Given the description of an element on the screen output the (x, y) to click on. 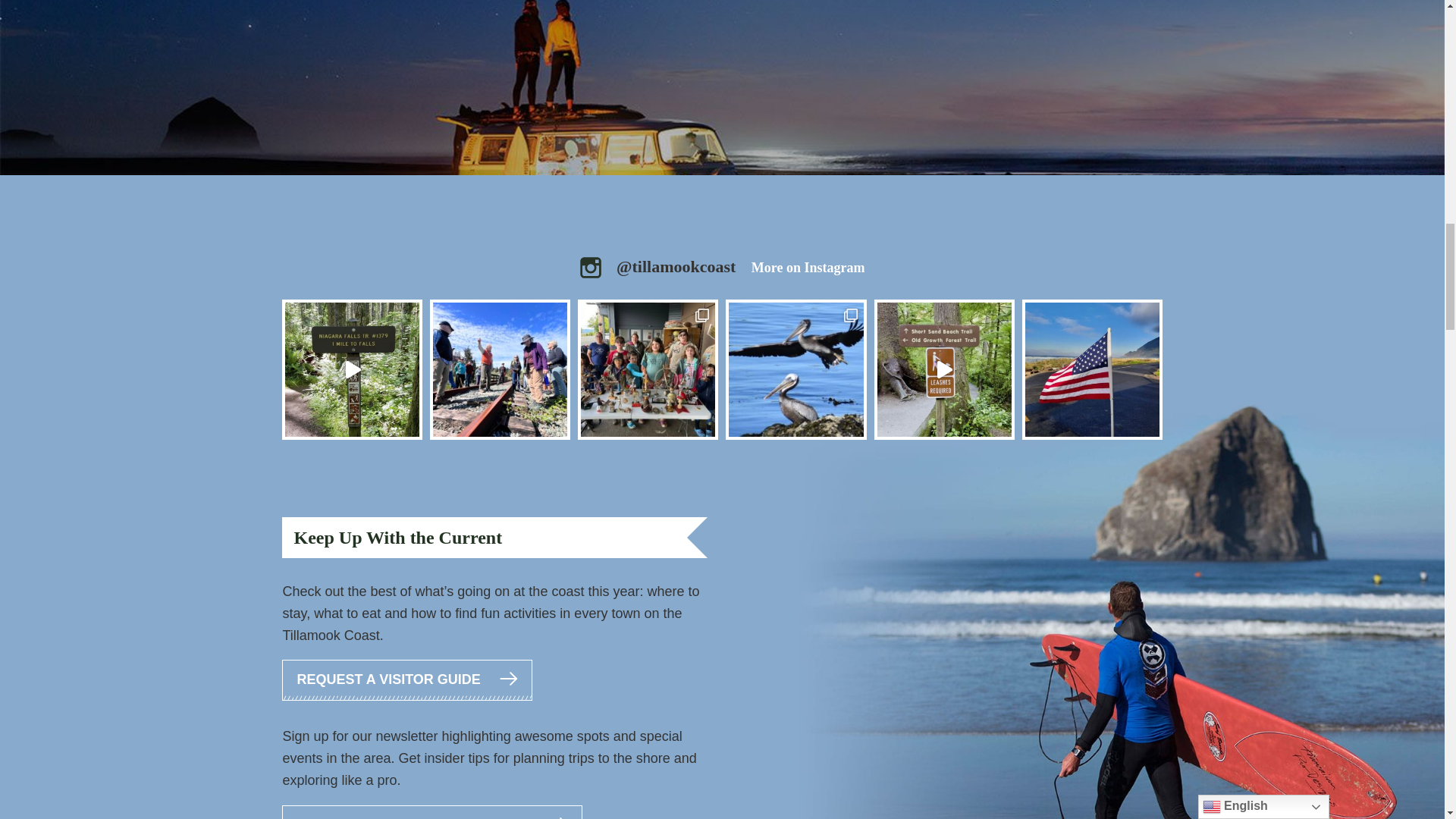
More on Instagram (807, 267)
